Given the description of an element on the screen output the (x, y) to click on. 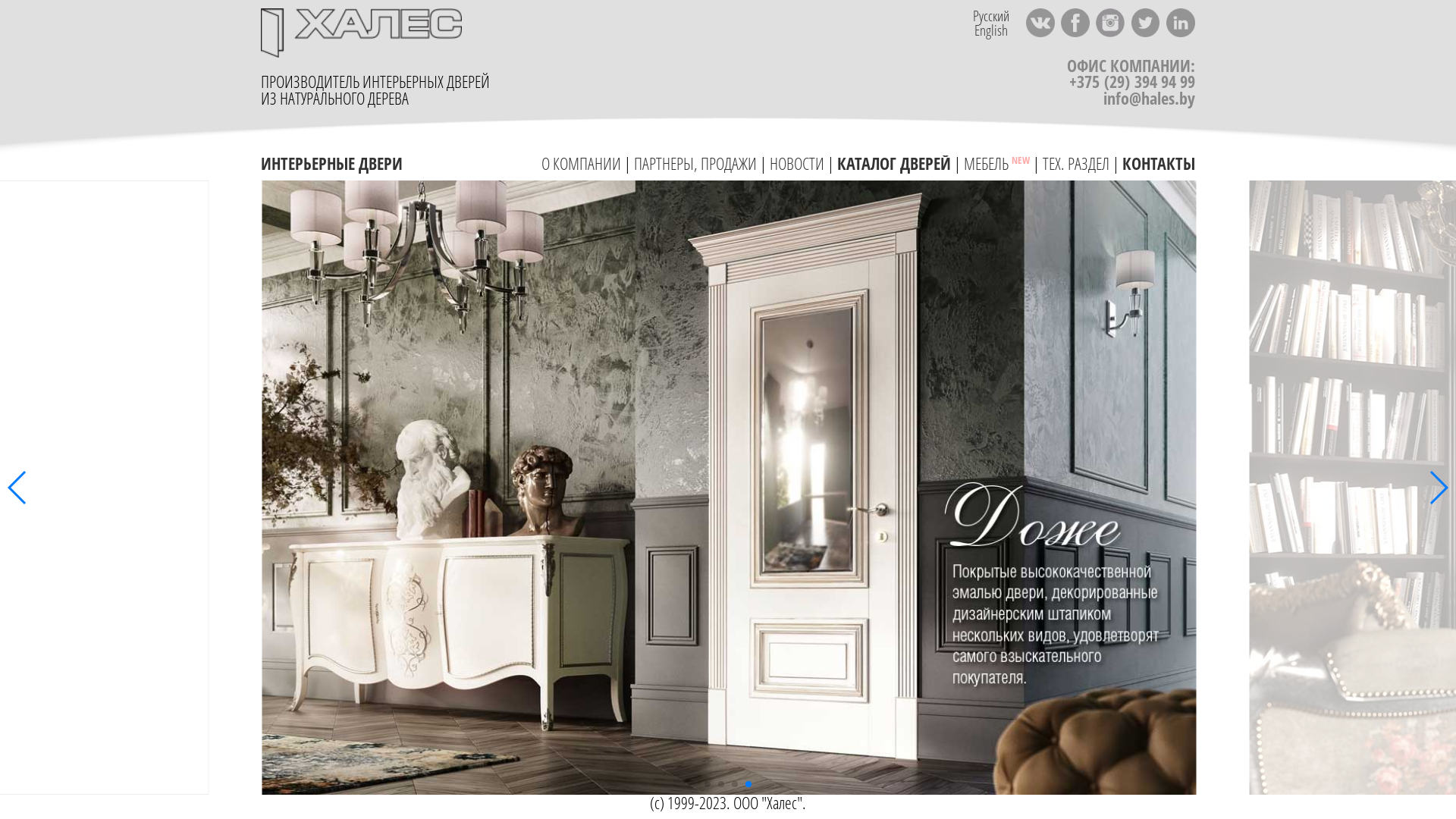
English Element type: text (990, 29)
NEW Element type: text (1020, 159)
